Given the description of an element on the screen output the (x, y) to click on. 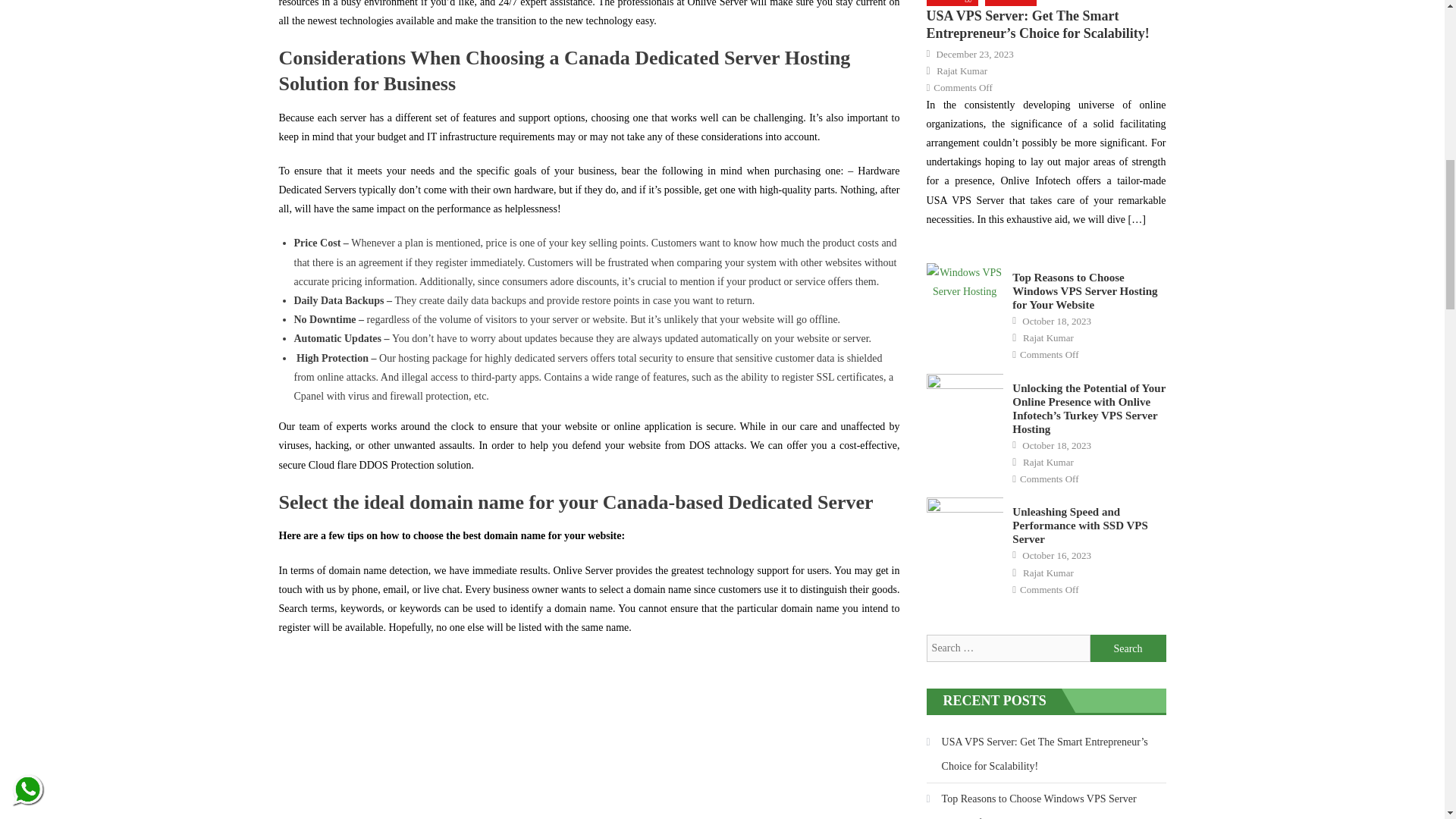
Search (1128, 647)
Search (1128, 647)
Unleashing Speed and Performance with SSD VPS Server (964, 524)
